Given the description of an element on the screen output the (x, y) to click on. 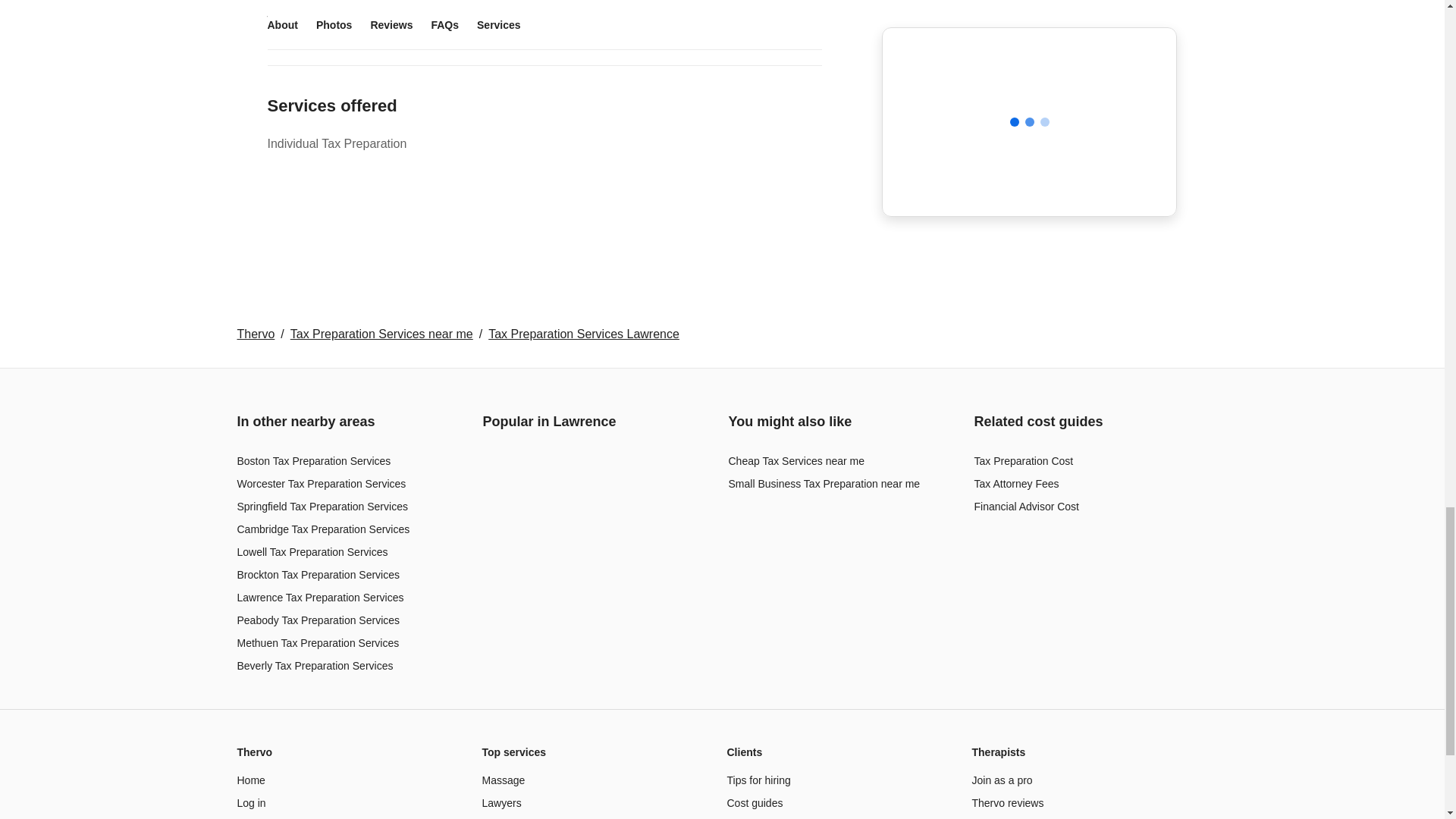
Lowell Tax Preparation Services (311, 551)
Tax Preparation Services Lawrence (583, 333)
Cambridge Tax Preparation Services (322, 529)
Worcester Tax Preparation Services (320, 483)
Peabody Tax Preparation Services (316, 620)
Boston Tax Preparation Services (312, 460)
Tax Preparation Services near me (381, 333)
Brockton Tax Preparation Services (316, 574)
Springfield Tax Preparation Services (321, 506)
Thervo (255, 333)
